Given the description of an element on the screen output the (x, y) to click on. 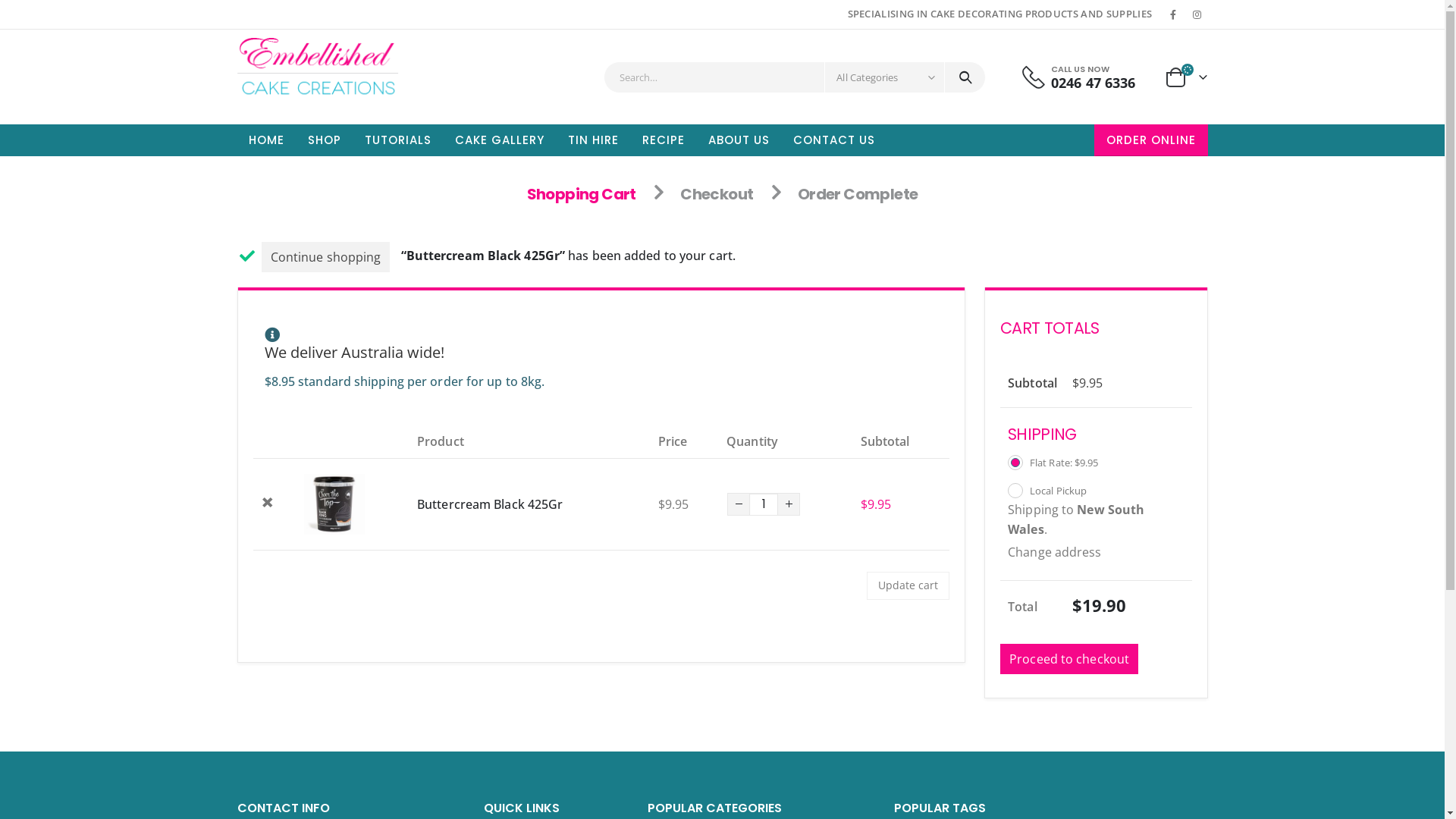
TUTORIALS Element type: text (397, 140)
Order Complete Element type: text (857, 193)
- Element type: text (738, 503)
ABOUT US Element type: text (738, 140)
Instagram Element type: hover (1197, 14)
Facebook Element type: hover (1173, 14)
Continue shopping Element type: text (325, 256)
0246 47 6336 Element type: text (1093, 81)
Shopping Cart Element type: text (581, 193)
TIN HIRE Element type: text (593, 140)
Buttercream Black 425Gr Element type: text (489, 503)
Proceed to checkout Element type: text (1069, 658)
Change address Element type: text (1054, 551)
CONTACT US Element type: text (833, 140)
SHOP Element type: text (323, 140)
ORDER ONLINE Element type: text (1150, 140)
RECIPE Element type: text (663, 140)
CAKE GALLERY Element type: text (498, 140)
HOME Element type: text (265, 140)
Checkout Element type: text (716, 193)
+ Element type: text (788, 503)
Search Element type: hover (964, 77)
Update cart Element type: text (907, 585)
